Given the description of an element on the screen output the (x, y) to click on. 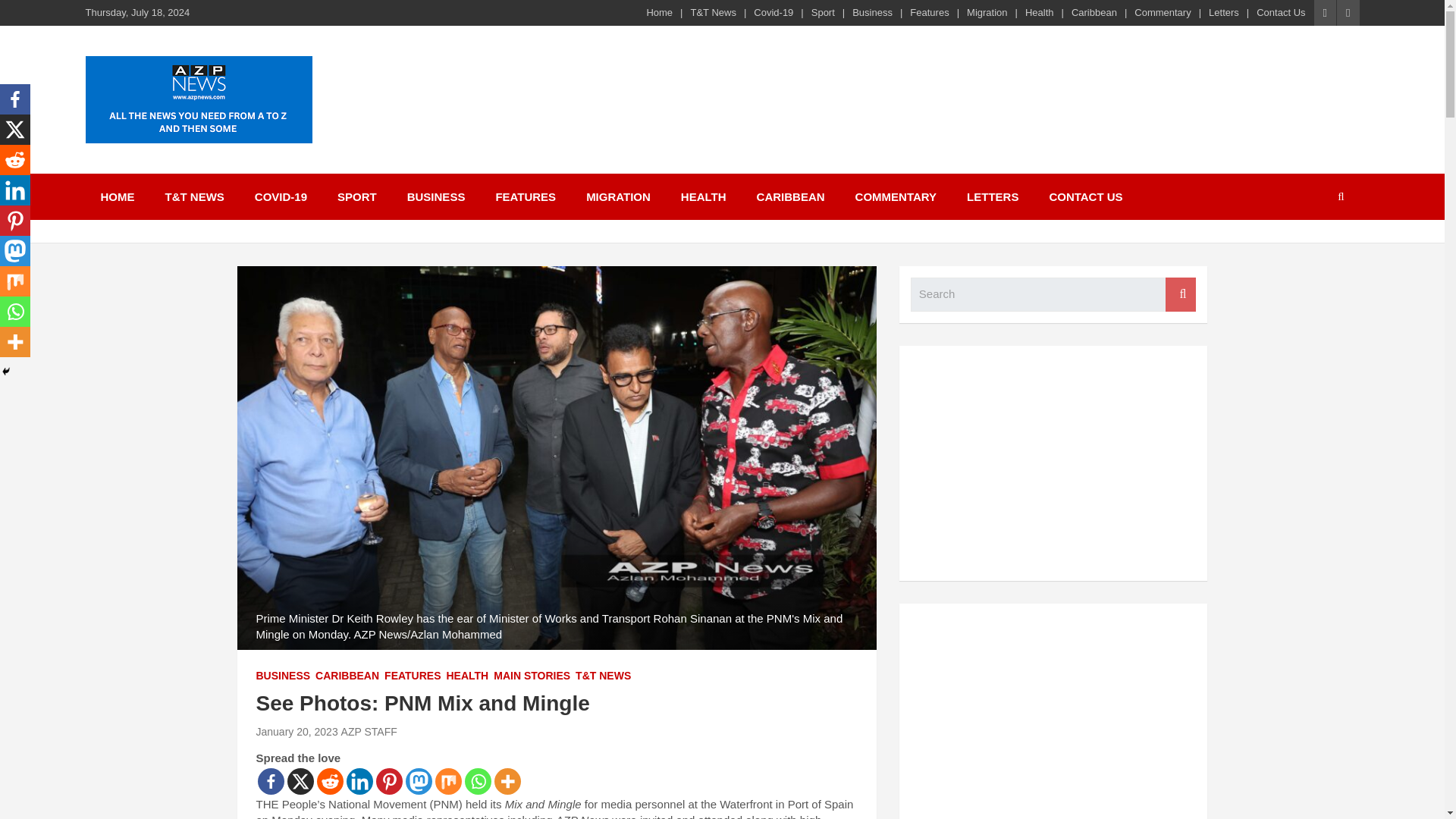
Contact Us (1280, 12)
MAIN STORIES (531, 676)
Commentary (1162, 12)
Migration (986, 12)
Home (659, 12)
Mix (448, 781)
Reddit (330, 781)
Facebook (270, 781)
Sport (822, 12)
MIGRATION (617, 196)
FEATURES (412, 676)
AZP News (158, 162)
Reddit (15, 159)
Covid-19 (773, 12)
Linkedin (359, 781)
